Given the description of an element on the screen output the (x, y) to click on. 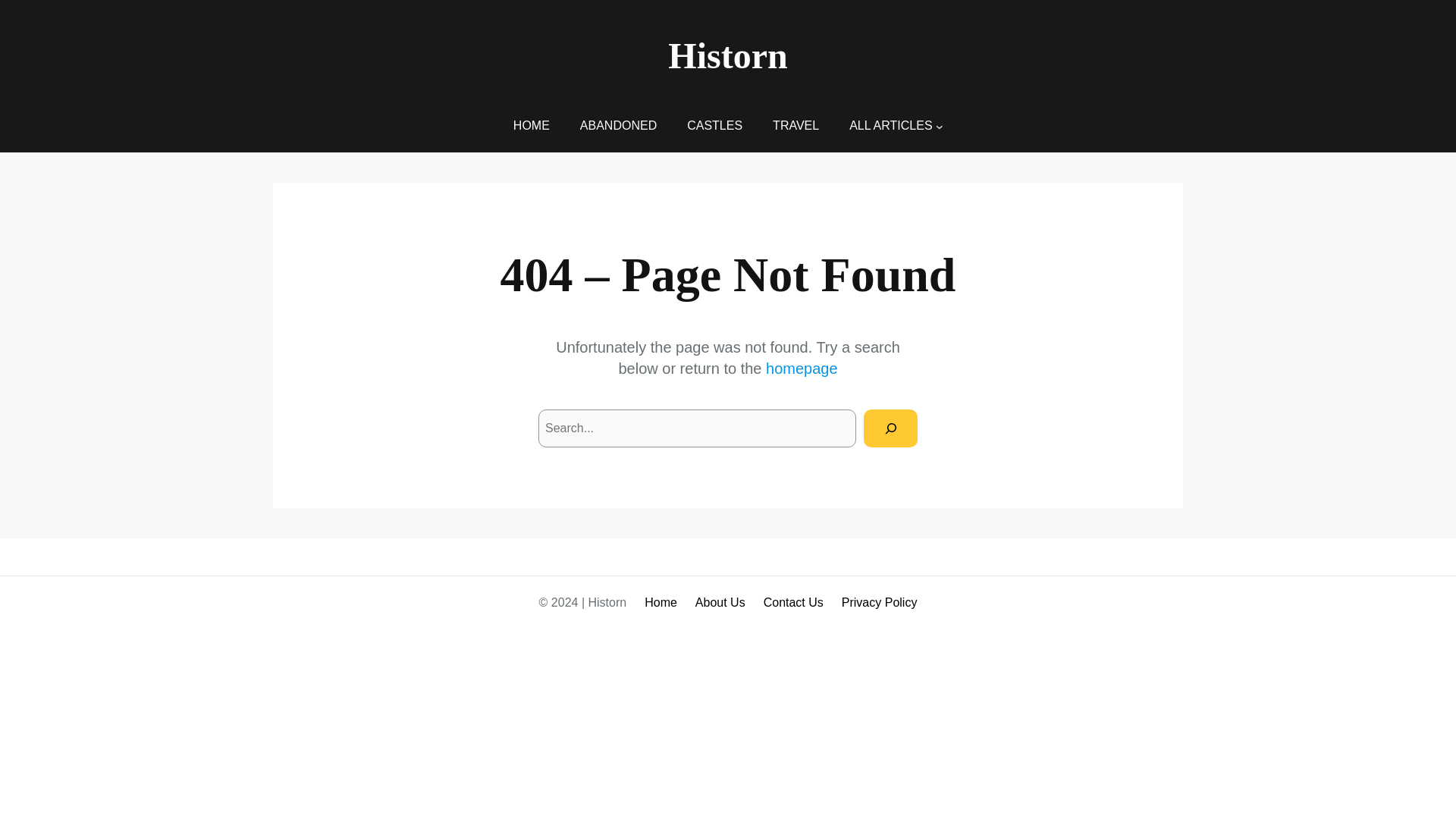
Contact Us (793, 602)
TRAVEL (795, 125)
Privacy Policy (879, 602)
ALL ARTICLES (889, 125)
Home (661, 602)
CASTLES (714, 125)
homepage (801, 368)
Historn (727, 56)
ABANDONED (617, 125)
HOME (531, 125)
